Given the description of an element on the screen output the (x, y) to click on. 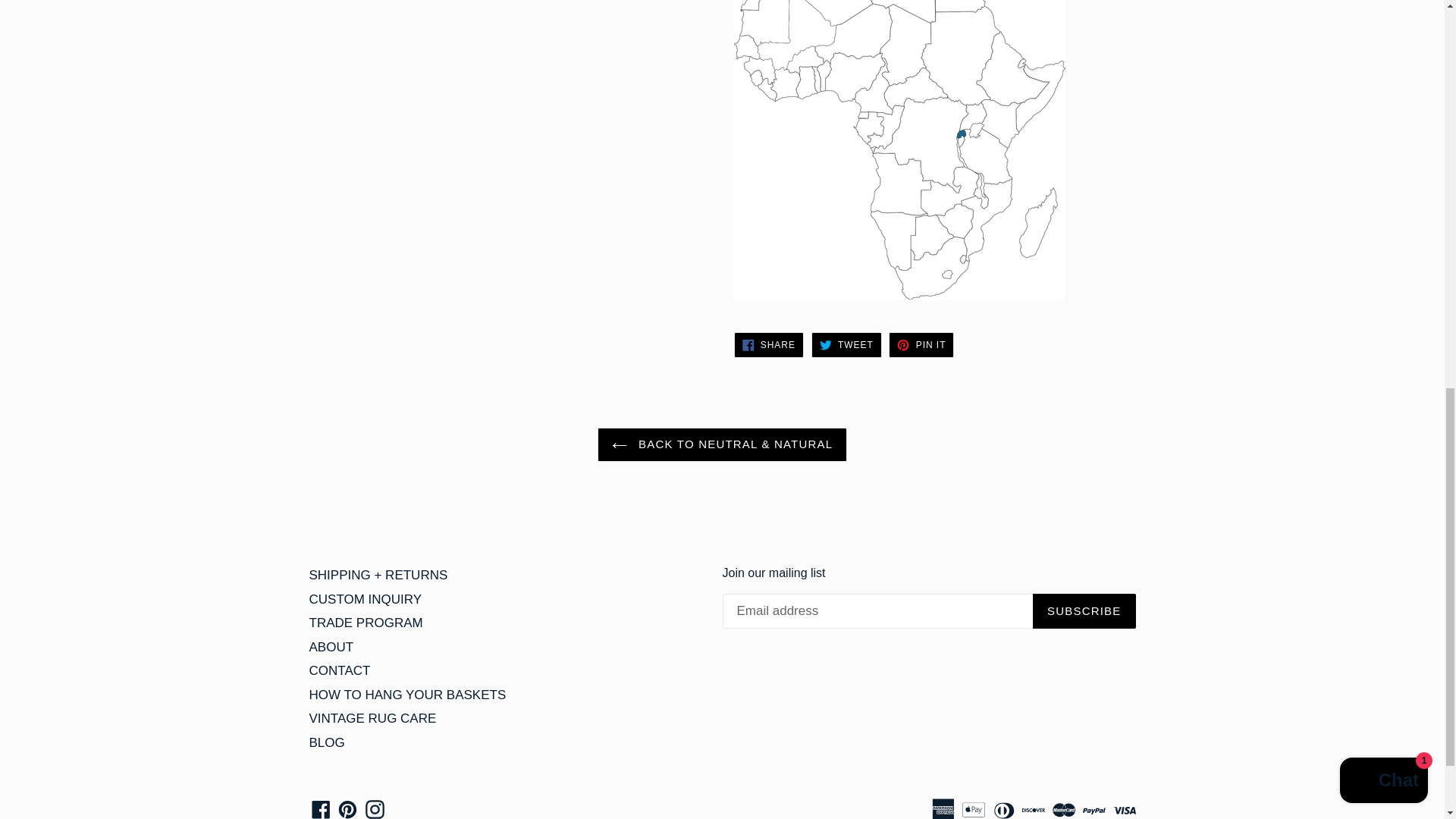
Life Inspirit on Instagram (374, 809)
Life Inspirit on Facebook (320, 809)
Pin on Pinterest (920, 344)
Share on Facebook (768, 344)
Tweet on Twitter (846, 344)
Life Inspirit on Pinterest (347, 809)
